Given the description of an element on the screen output the (x, y) to click on. 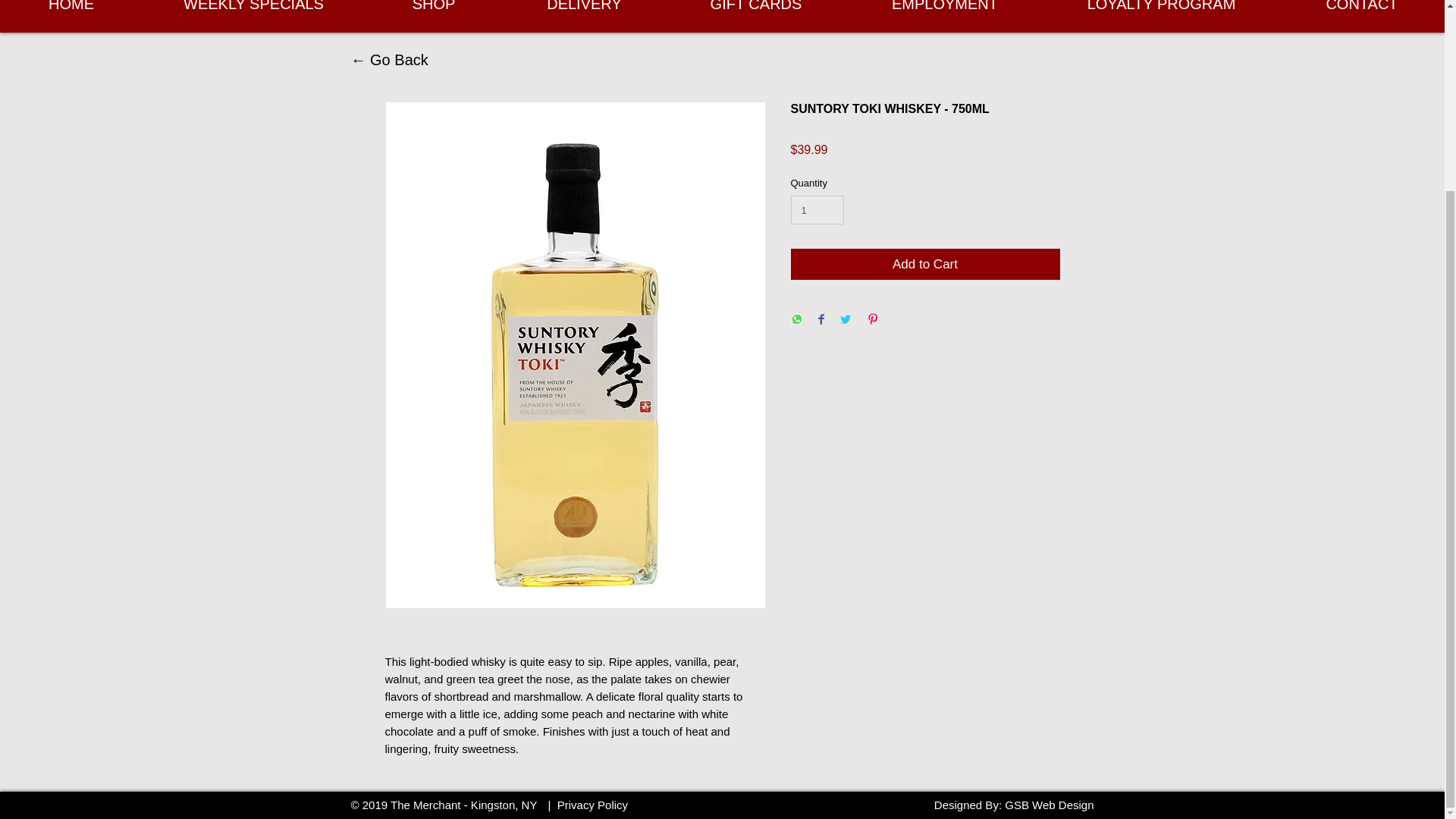
SHOP (433, 11)
EMPLOYMENT (944, 11)
GSB Web Design (1048, 804)
Add to Cart (924, 264)
1 (817, 209)
2019 The Merchant - Kingston, NY (449, 804)
HOME (71, 11)
DELIVERY (583, 11)
LOYALTY PROGRAM (1161, 11)
Privacy Policy (592, 804)
